Given the description of an element on the screen output the (x, y) to click on. 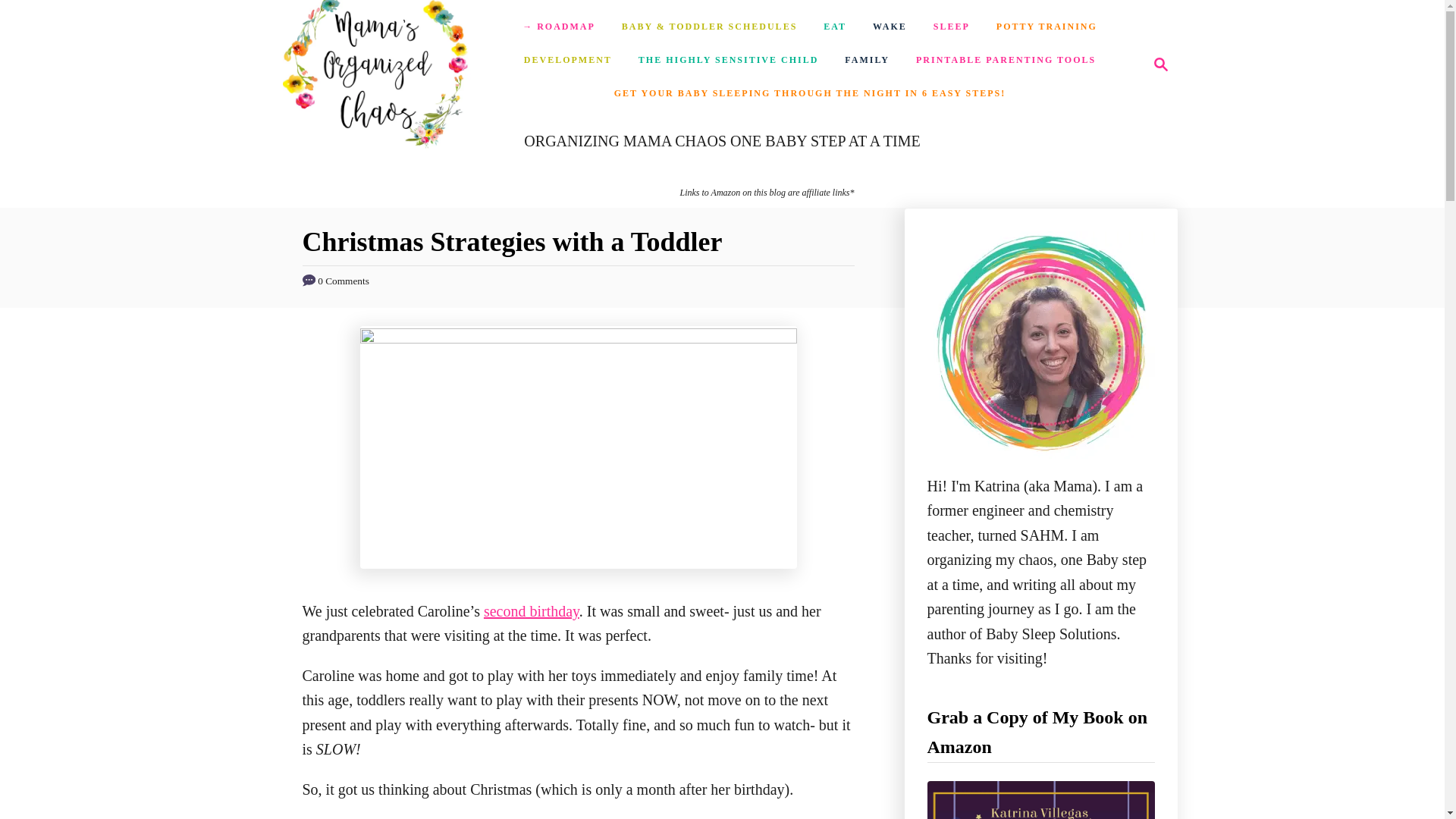
FAMILY (866, 60)
Mama's Organized Chaos (376, 64)
SLEEP (1155, 64)
PRINTABLE PARENTING TOOLS (951, 27)
THE HIGHLY SENSITIVE CHILD (1005, 60)
second birthday (728, 60)
EAT (531, 610)
Magnifying Glass (834, 27)
POTTY TRAINING (1160, 64)
